Given the description of an element on the screen output the (x, y) to click on. 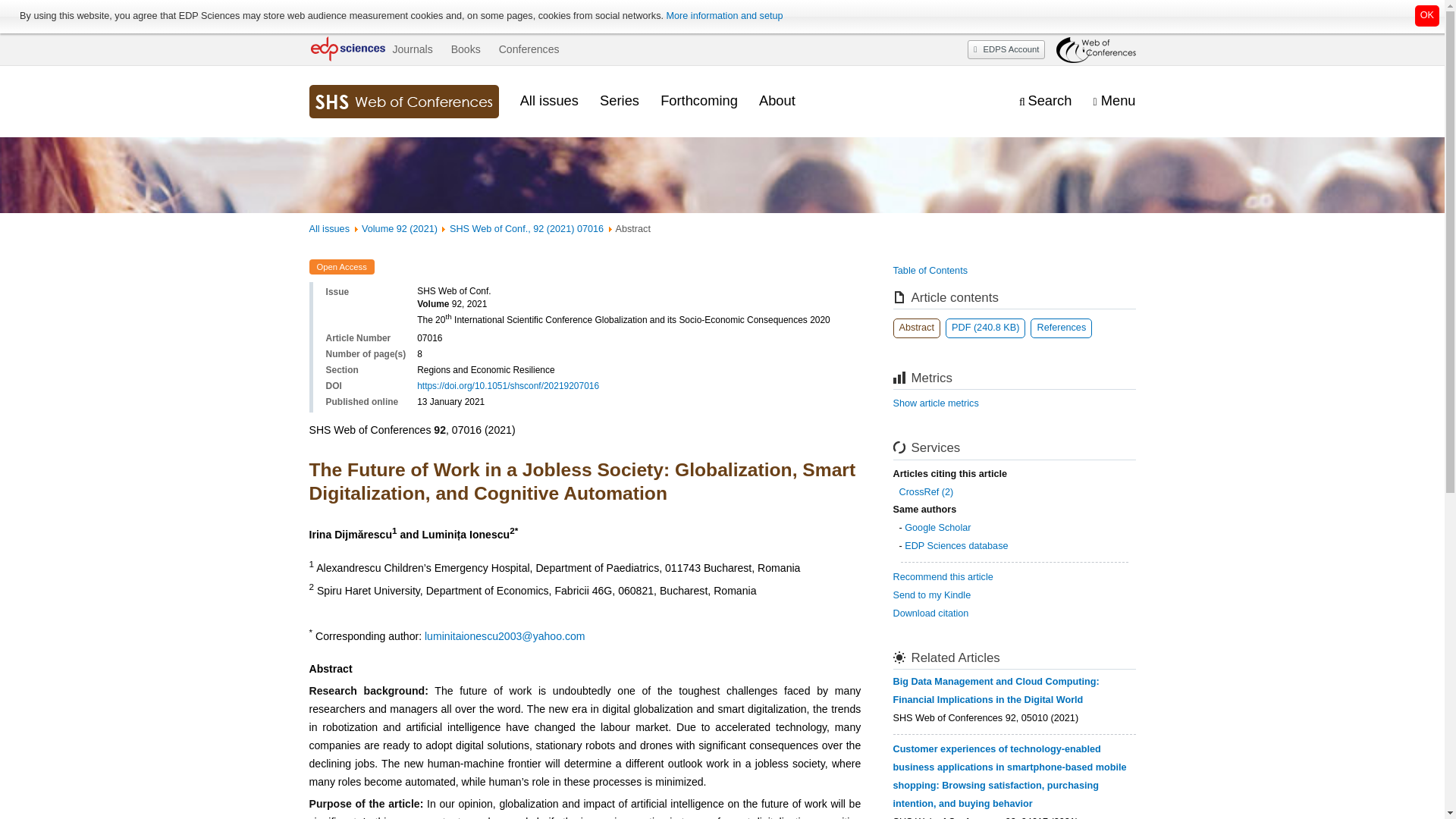
Conferences (529, 49)
Click to close this notification (1427, 15)
Books (465, 49)
Abstract (916, 328)
Journal homepage (403, 101)
Display the search engine (1045, 101)
More information and setup (724, 15)
OK (1427, 15)
Journals (411, 49)
